Given the description of an element on the screen output the (x, y) to click on. 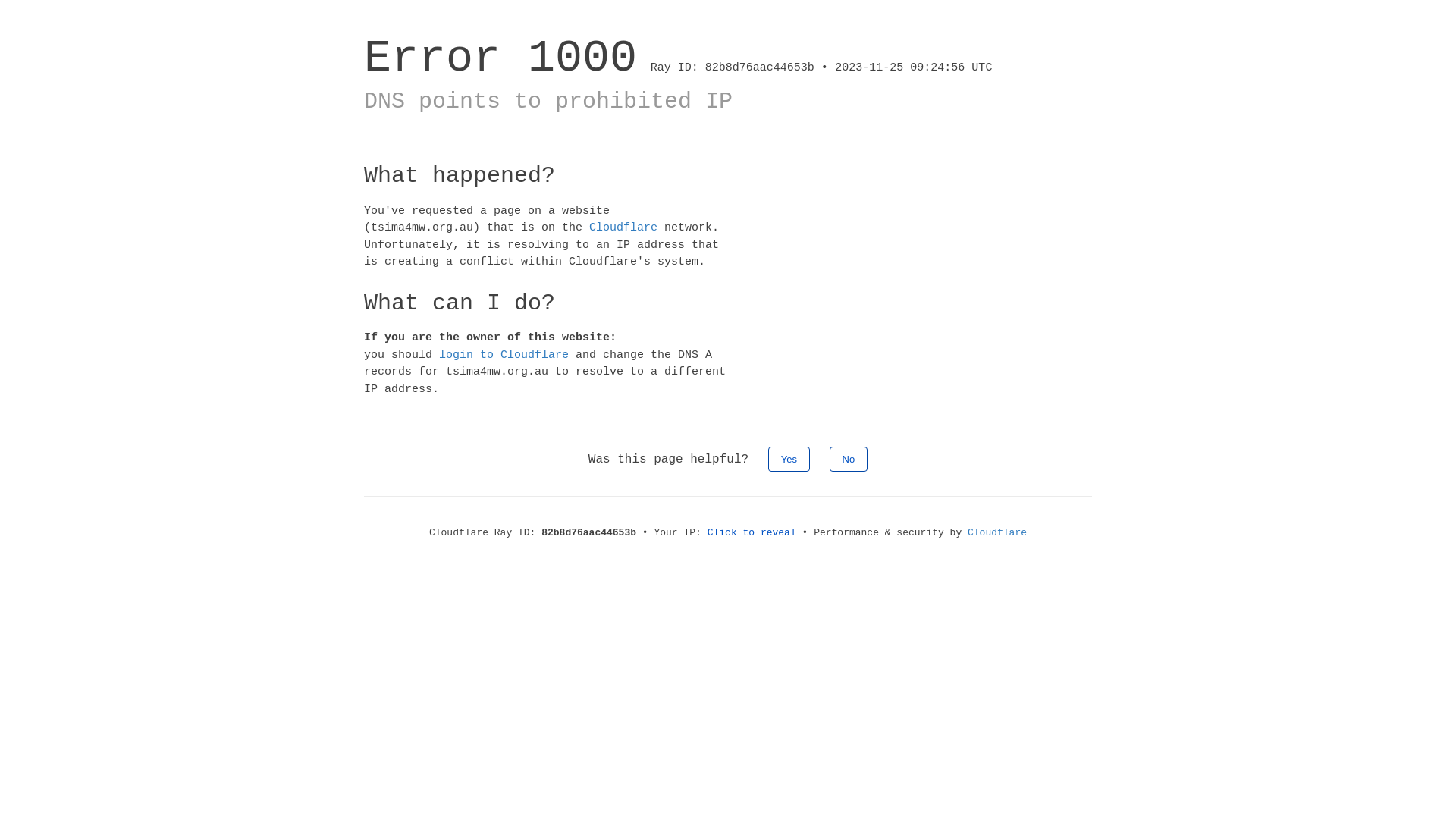
login to Cloudflare Element type: text (503, 354)
Cloudflare Element type: text (623, 227)
Cloudflare Element type: text (996, 532)
Click to reveal Element type: text (751, 532)
Yes Element type: text (788, 458)
No Element type: text (848, 458)
